Given the description of an element on the screen output the (x, y) to click on. 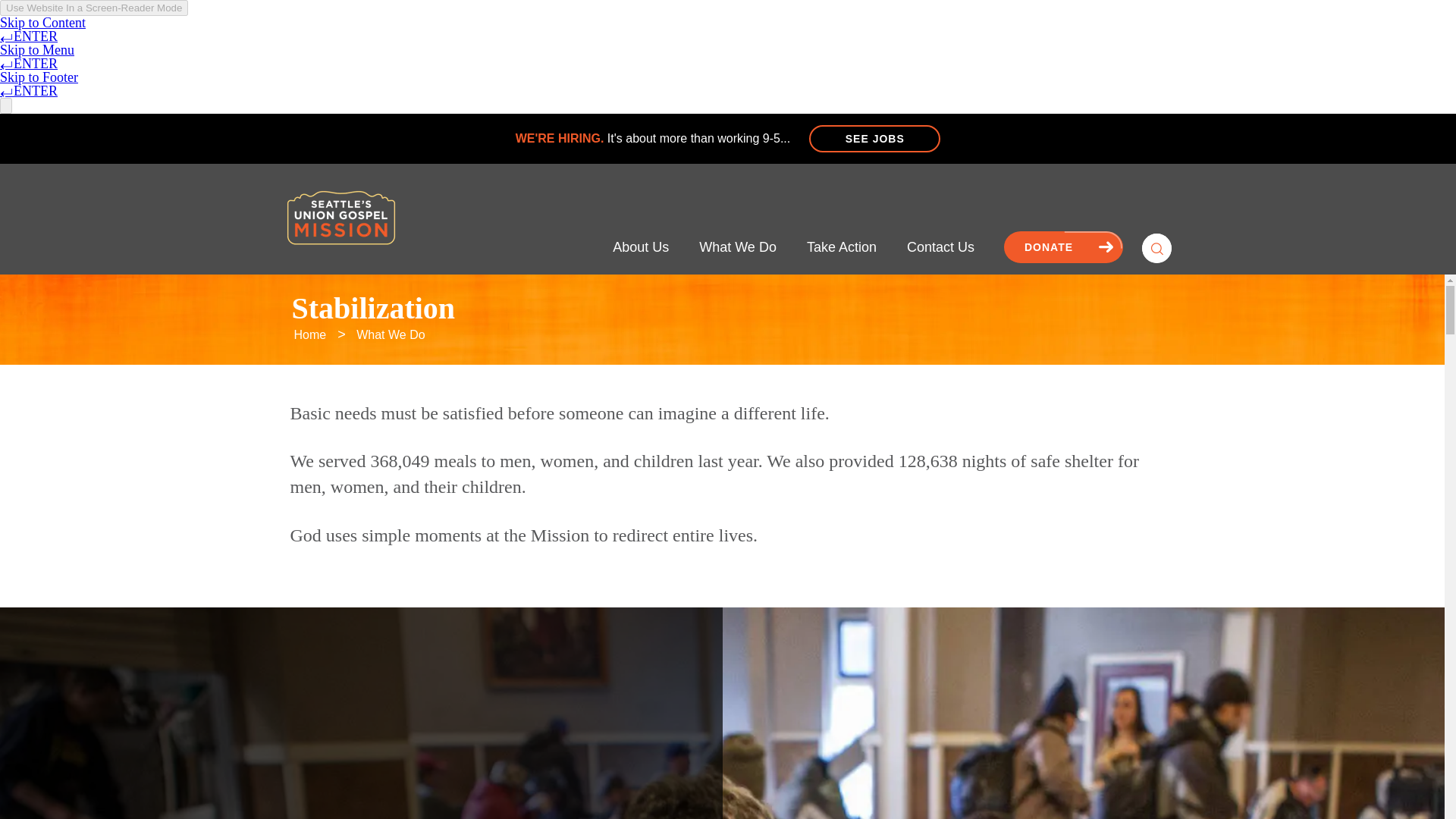
About Us (640, 248)
Take Action (841, 248)
Contact Us (940, 248)
SEE JOBS (874, 138)
What We Do (737, 248)
